Given the description of an element on the screen output the (x, y) to click on. 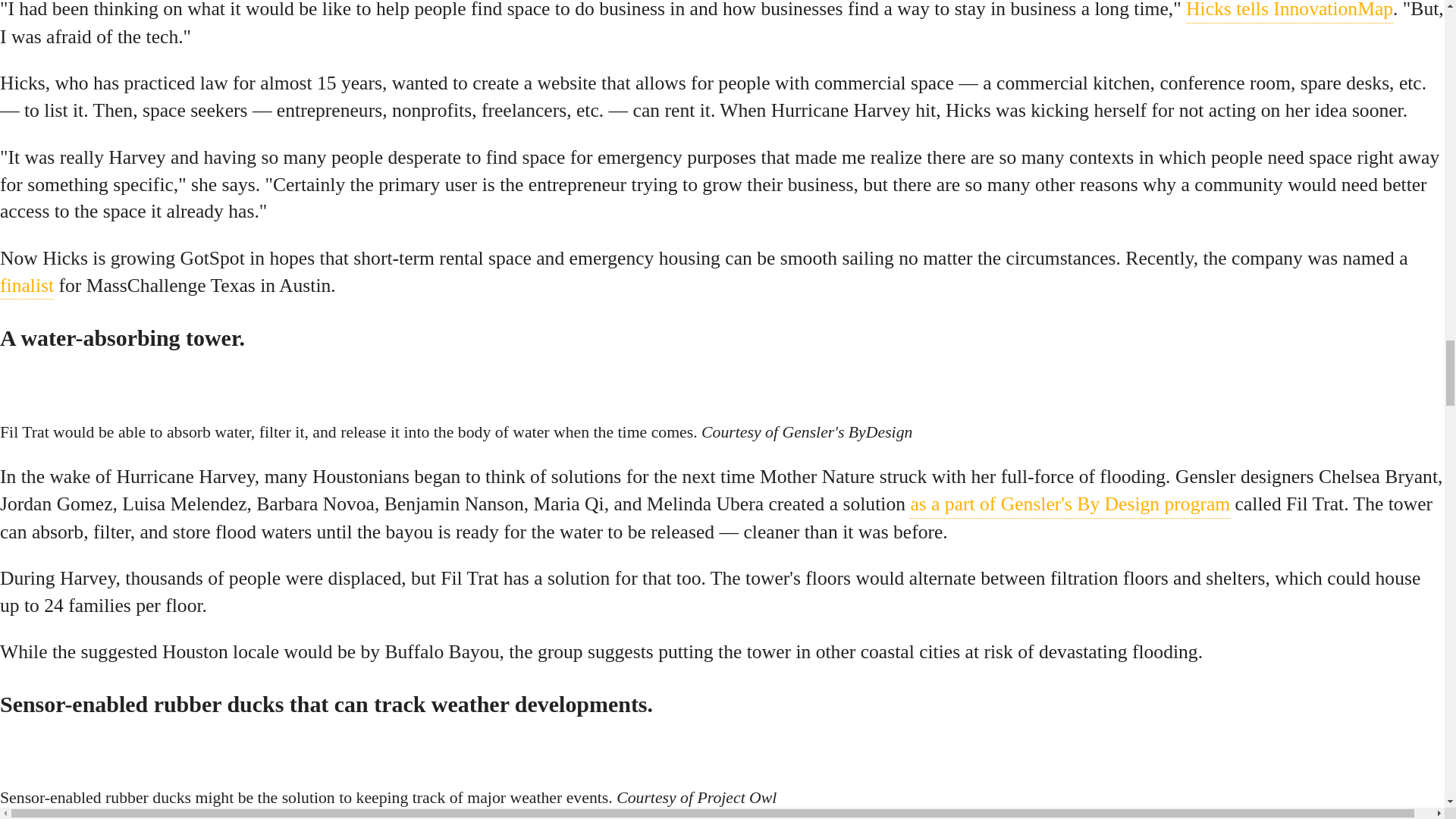
as a part of Gensler's By Design program (1070, 504)
finalist (26, 285)
Hicks tells InnovationMap (1289, 11)
